Given the description of an element on the screen output the (x, y) to click on. 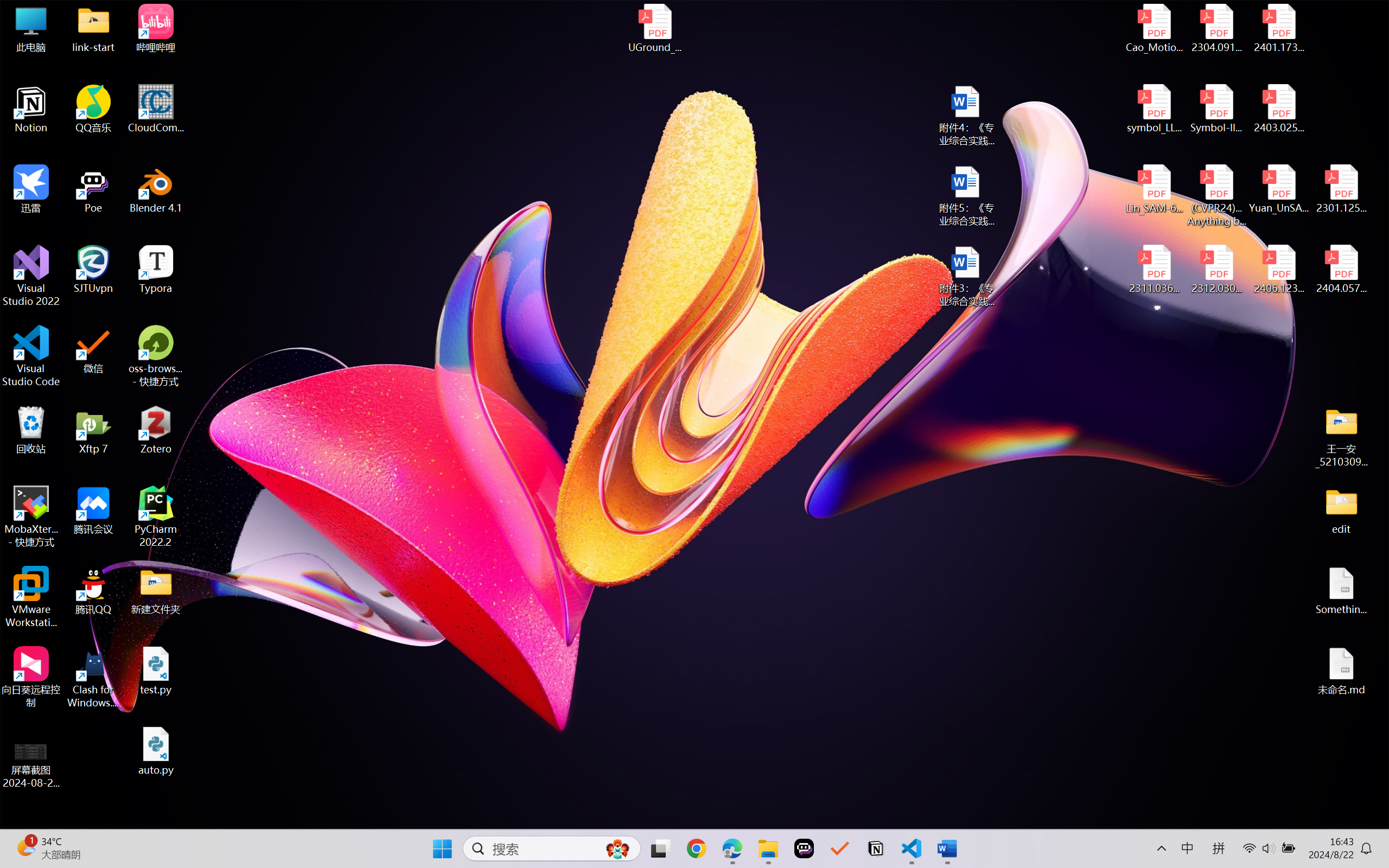
UGround_paper.pdf (654, 28)
2312.03032v2.pdf (1216, 269)
Google Chrome (696, 848)
Blender 4.1 (156, 189)
2401.17399v1.pdf (1278, 28)
